Given the description of an element on the screen output the (x, y) to click on. 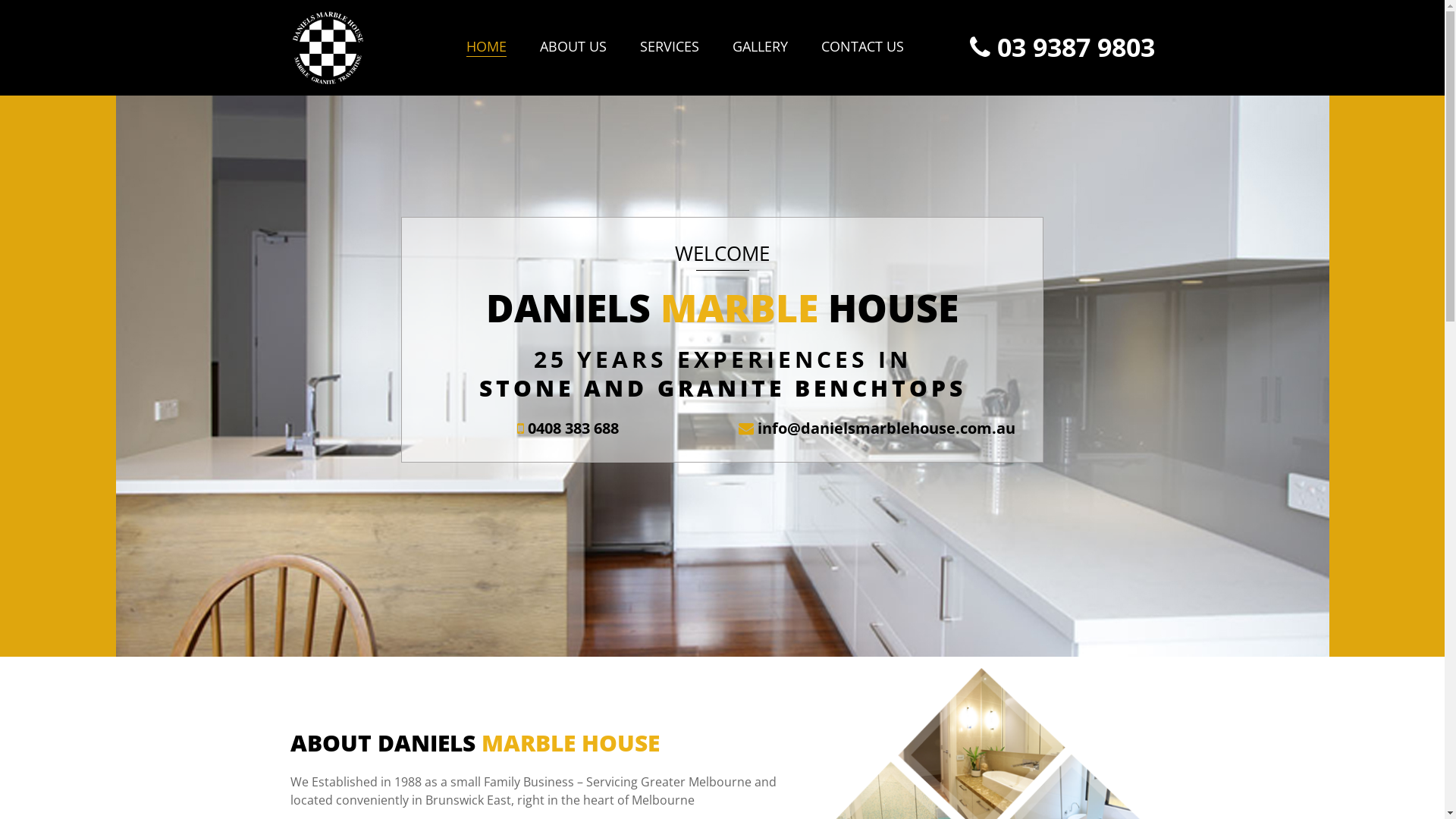
CONTACT US Element type: text (862, 46)
03 9387 9803 Element type: text (1061, 47)
DMARBLE Element type: hover (326, 47)
SERVICES Element type: text (669, 46)
GALLERY Element type: text (759, 46)
HOME Element type: text (486, 46)
info@danielsmarblehouse.com.au Element type: text (876, 428)
ABOUT US Element type: text (572, 46)
0408 383 688 Element type: text (567, 428)
